Given the description of an element on the screen output the (x, y) to click on. 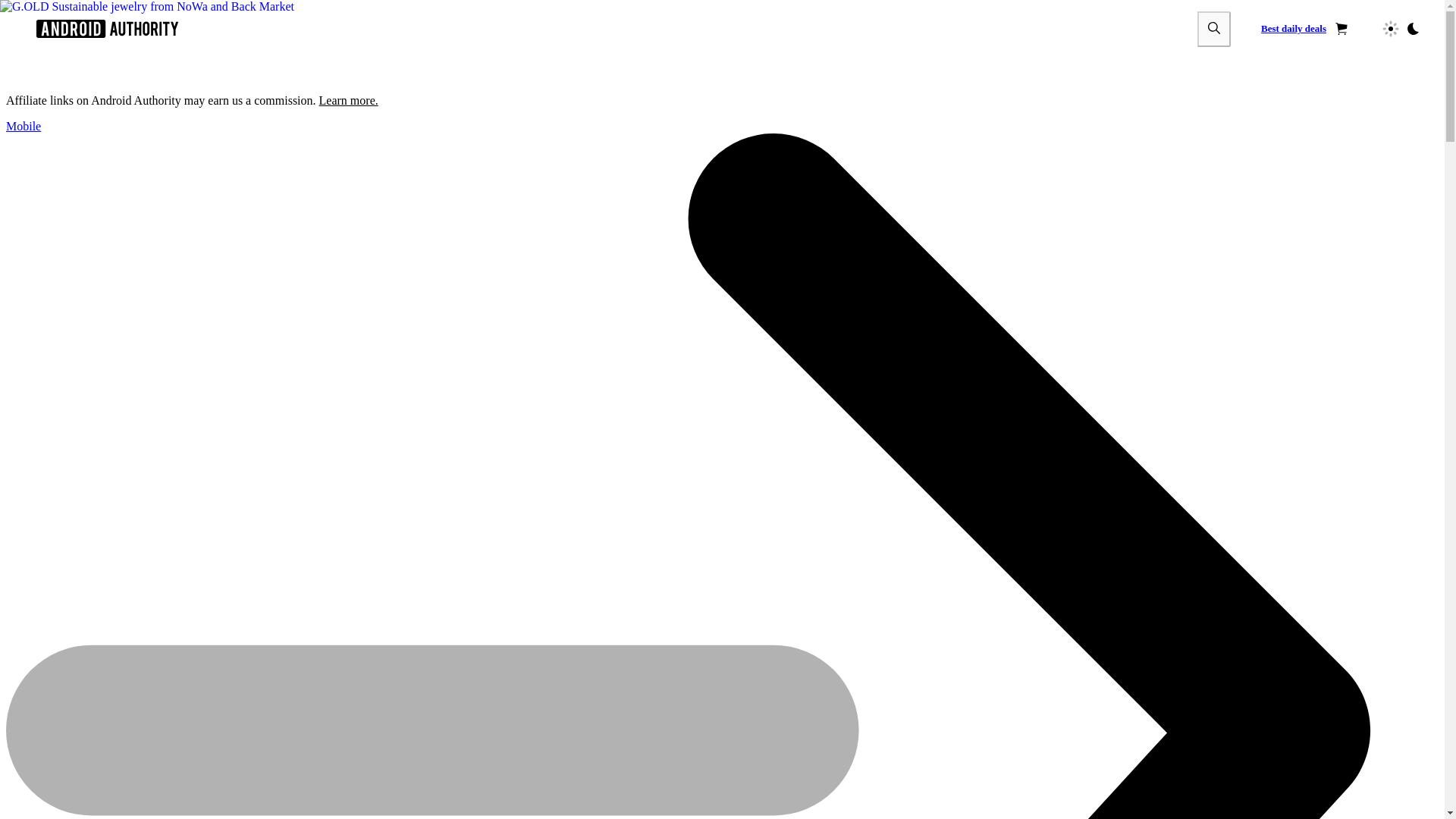
Mobile (22, 125)
Learn more. (348, 100)
Best daily deals (1304, 28)
